Given the description of an element on the screen output the (x, y) to click on. 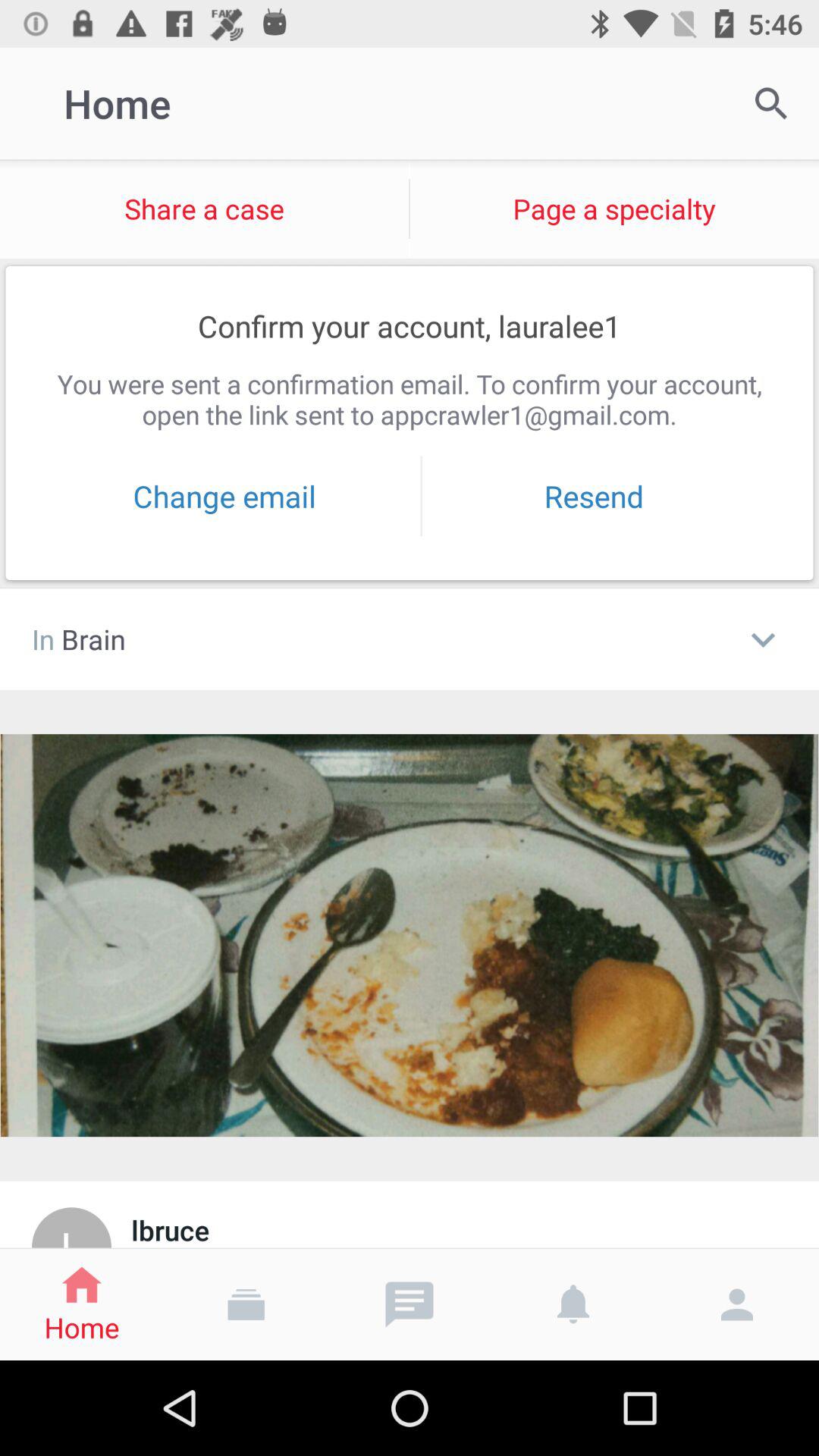
flip to the resend item (593, 496)
